Given the description of an element on the screen output the (x, y) to click on. 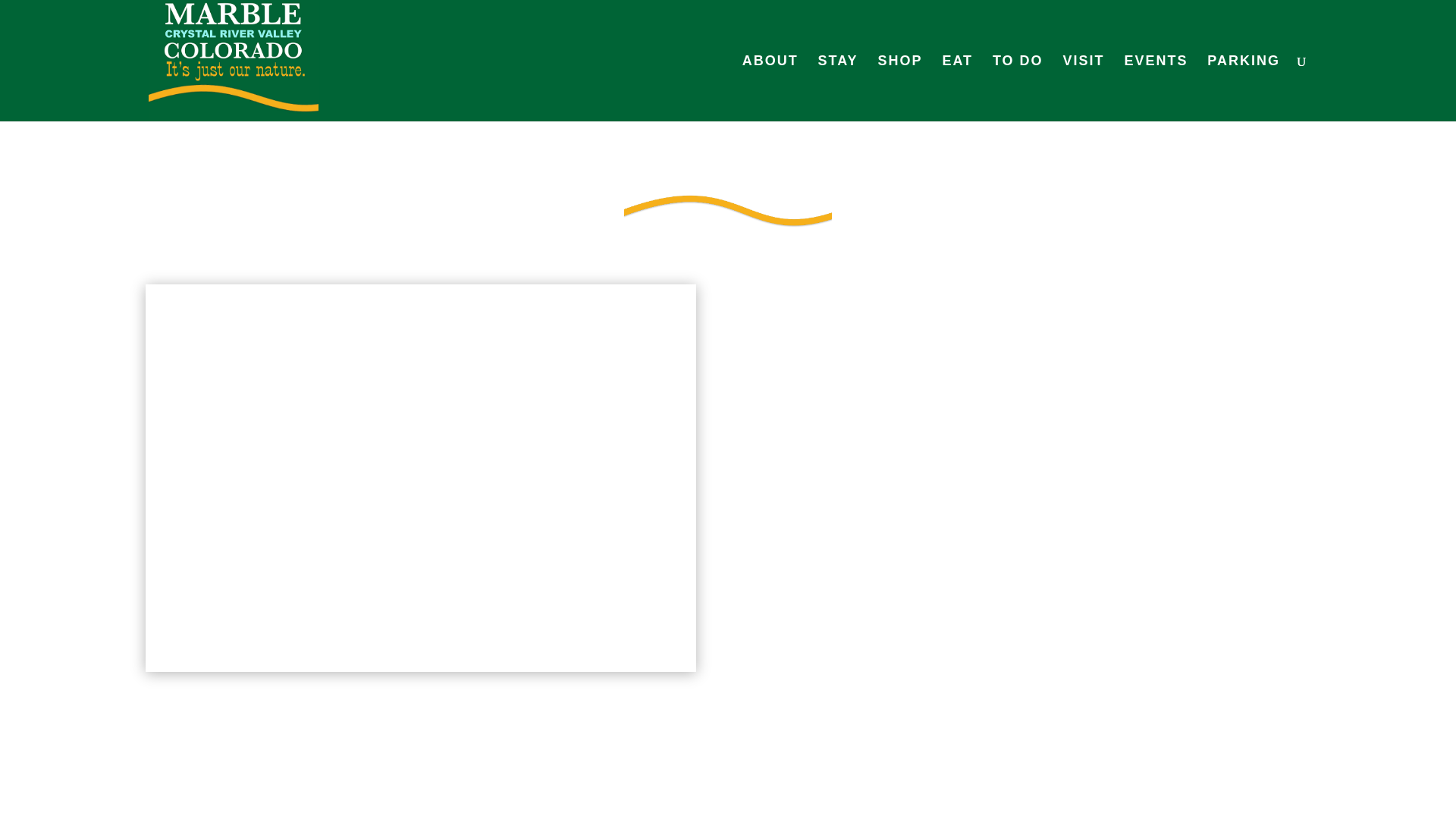
EVENTS (1156, 88)
wave with adjusted cmyk (727, 209)
PARKING (1243, 88)
